Given the description of an element on the screen output the (x, y) to click on. 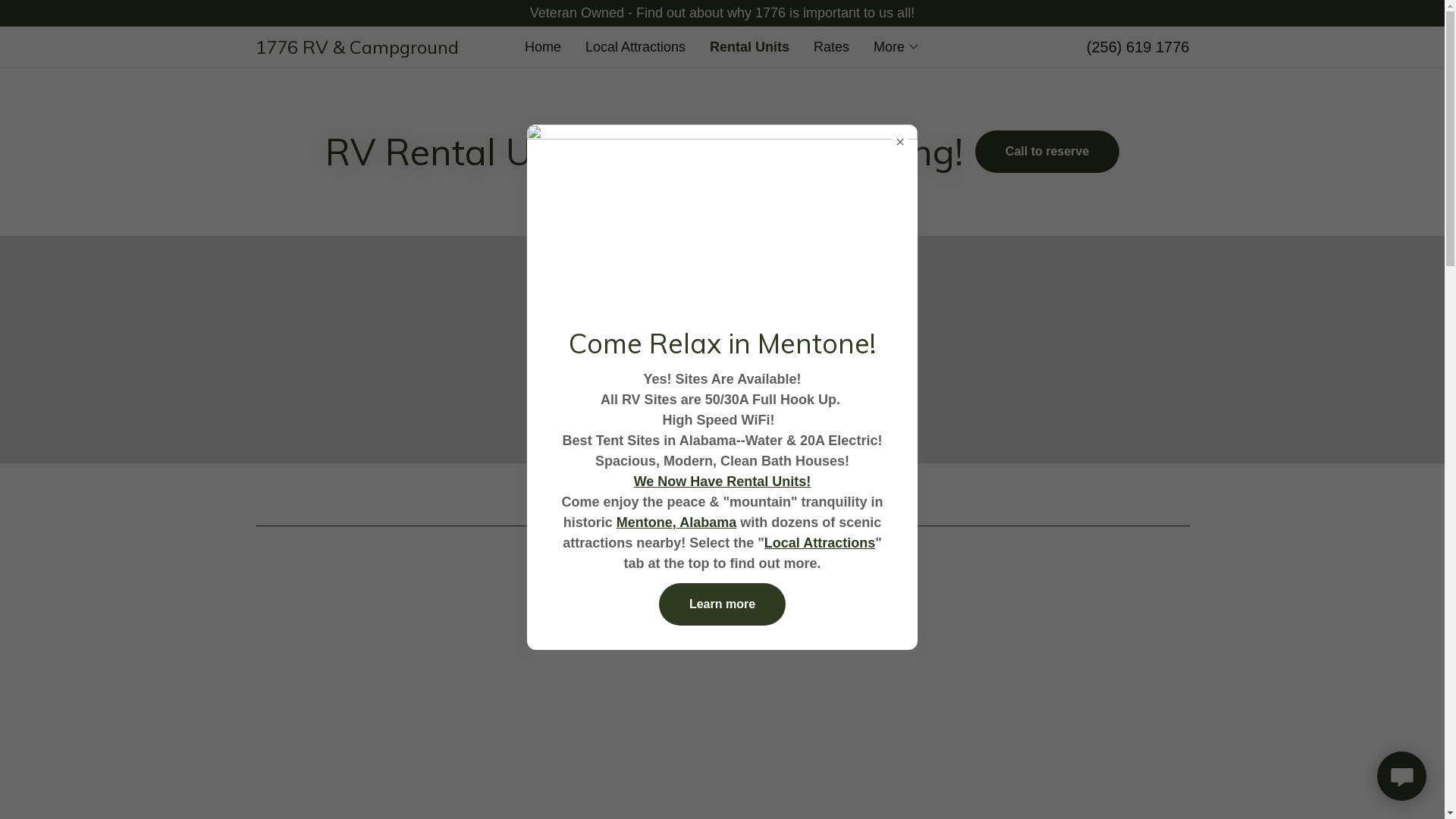
Mentone, Alabama Element type: text (676, 521)
(256) 619 1776 Element type: text (1137, 46)
We Now Have Rental Units! Element type: text (722, 480)
Rates Element type: text (831, 46)
1776 RV & Campground Element type: text (371, 48)
Rental Units Element type: text (749, 46)
More Element type: text (896, 46)
Home Element type: text (542, 46)
Local Attractions Element type: text (635, 46)
Learn more Element type: text (721, 603)
Local Attractions Element type: text (819, 542)
Call to reserve Element type: text (1047, 151)
